Given the description of an element on the screen output the (x, y) to click on. 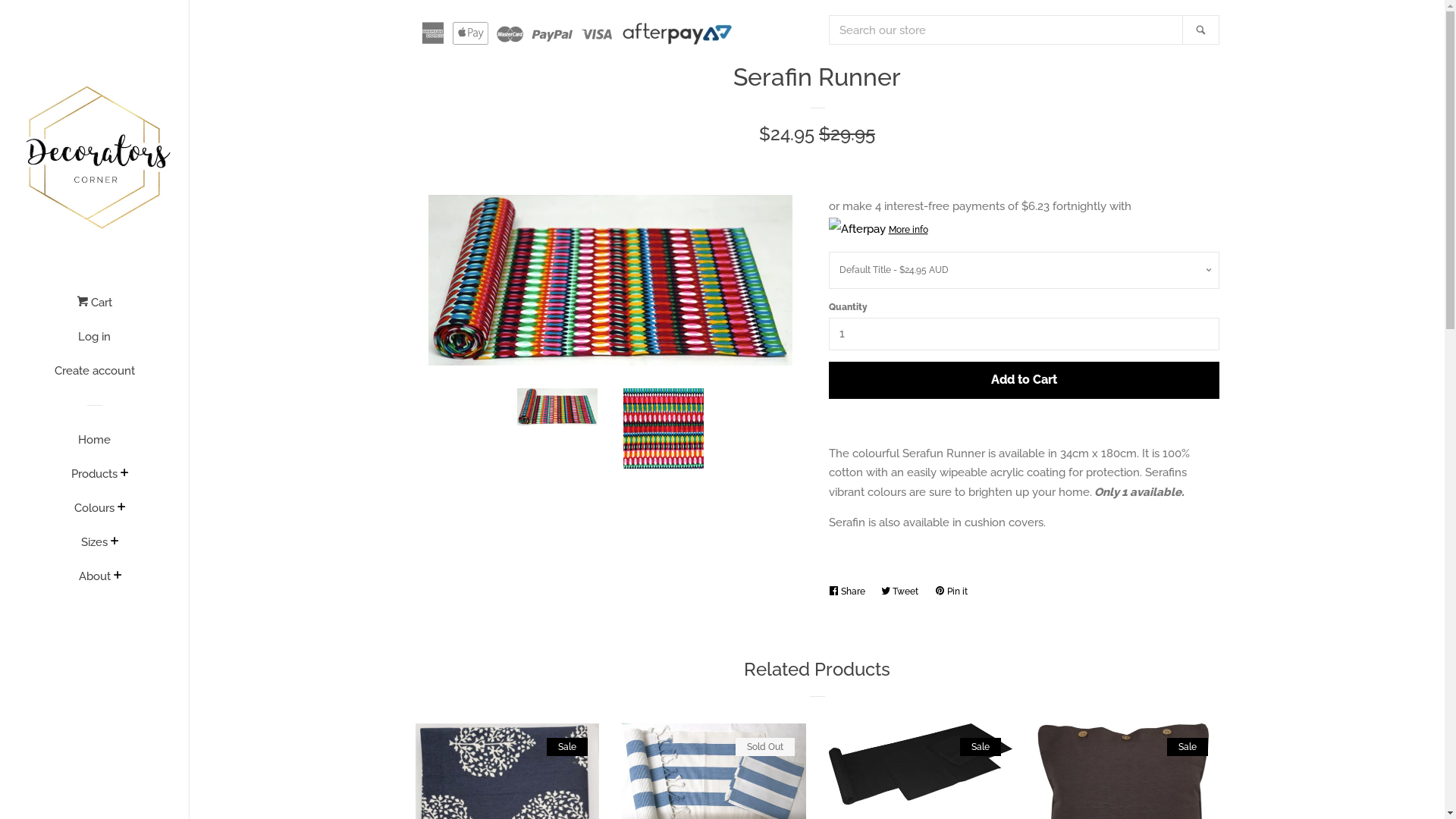
expand Element type: text (124, 473)
Products Element type: text (94, 479)
Cart Element type: text (94, 308)
About Element type: text (94, 581)
expand Element type: text (121, 507)
Log in Element type: text (93, 342)
More info Element type: text (1023, 228)
Create account Element type: text (93, 376)
Colours Element type: text (94, 513)
Tweet
Tweet on Twitter Element type: text (903, 591)
Sizes Element type: text (94, 547)
Share
Share on Facebook Element type: text (850, 591)
Add to Cart Element type: text (1023, 379)
expand Element type: text (117, 576)
Search Element type: text (1200, 29)
Home Element type: text (93, 445)
Pin it
Pin on Pinterest Element type: text (954, 591)
expand Element type: text (114, 542)
